Given the description of an element on the screen output the (x, y) to click on. 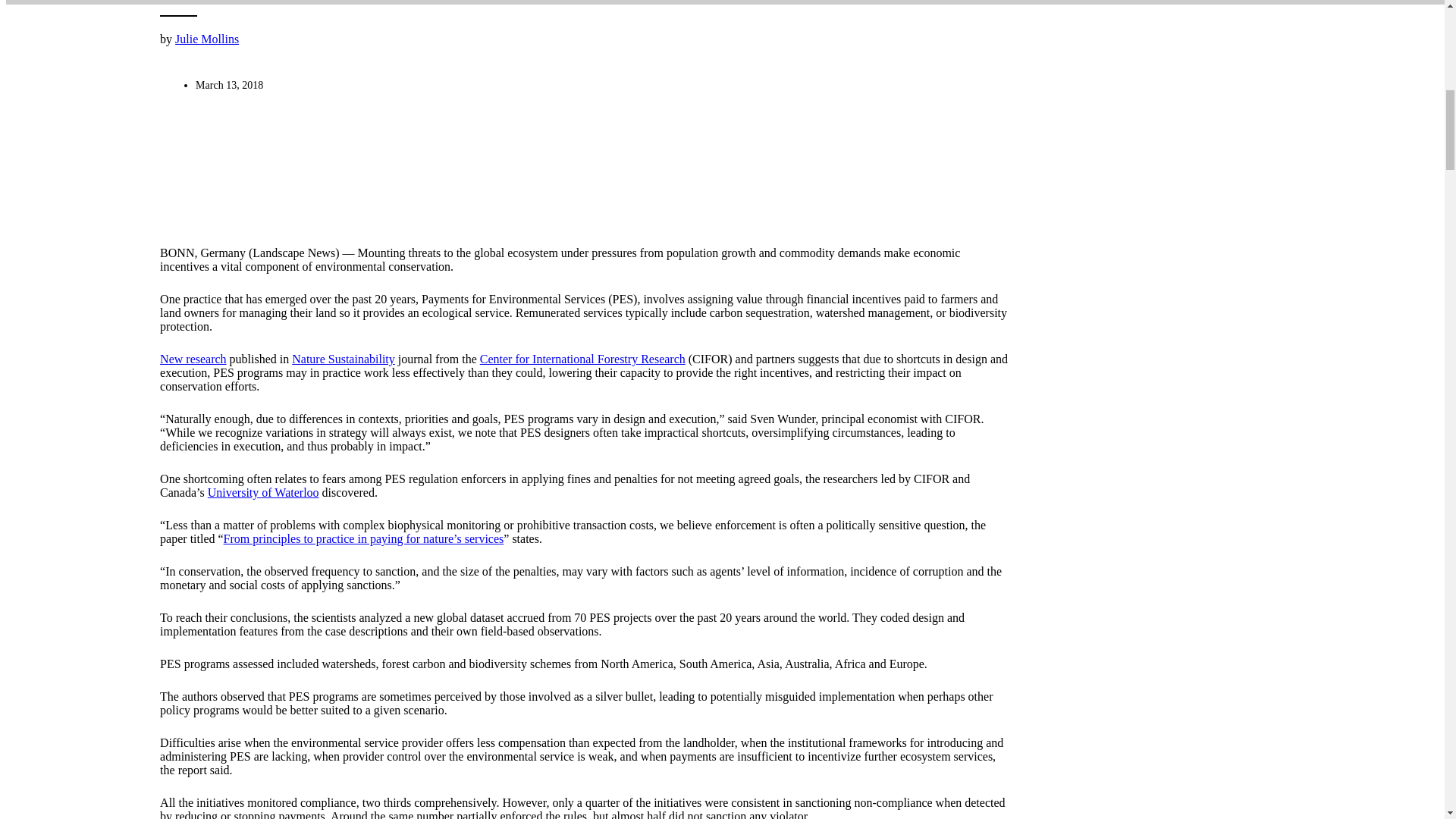
Nature Sustainability (343, 358)
Center for International Forestry Research (582, 358)
New research (193, 358)
Julie Mollins (206, 38)
University of Waterloo (263, 492)
Posts by Julie Mollins (206, 38)
